Given the description of an element on the screen output the (x, y) to click on. 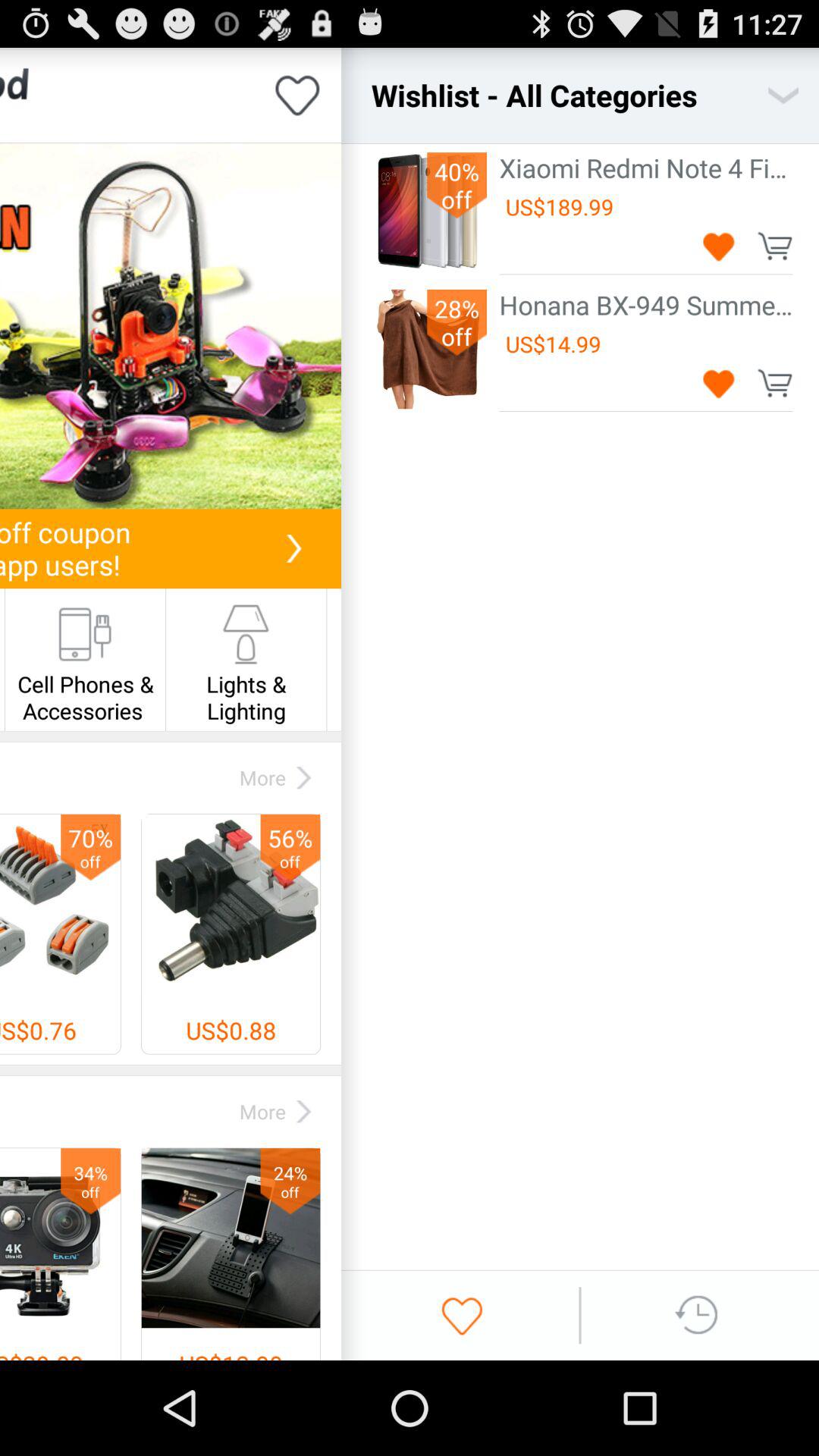
turn off the icon next to wishlist - all categories icon (783, 95)
